Given the description of an element on the screen output the (x, y) to click on. 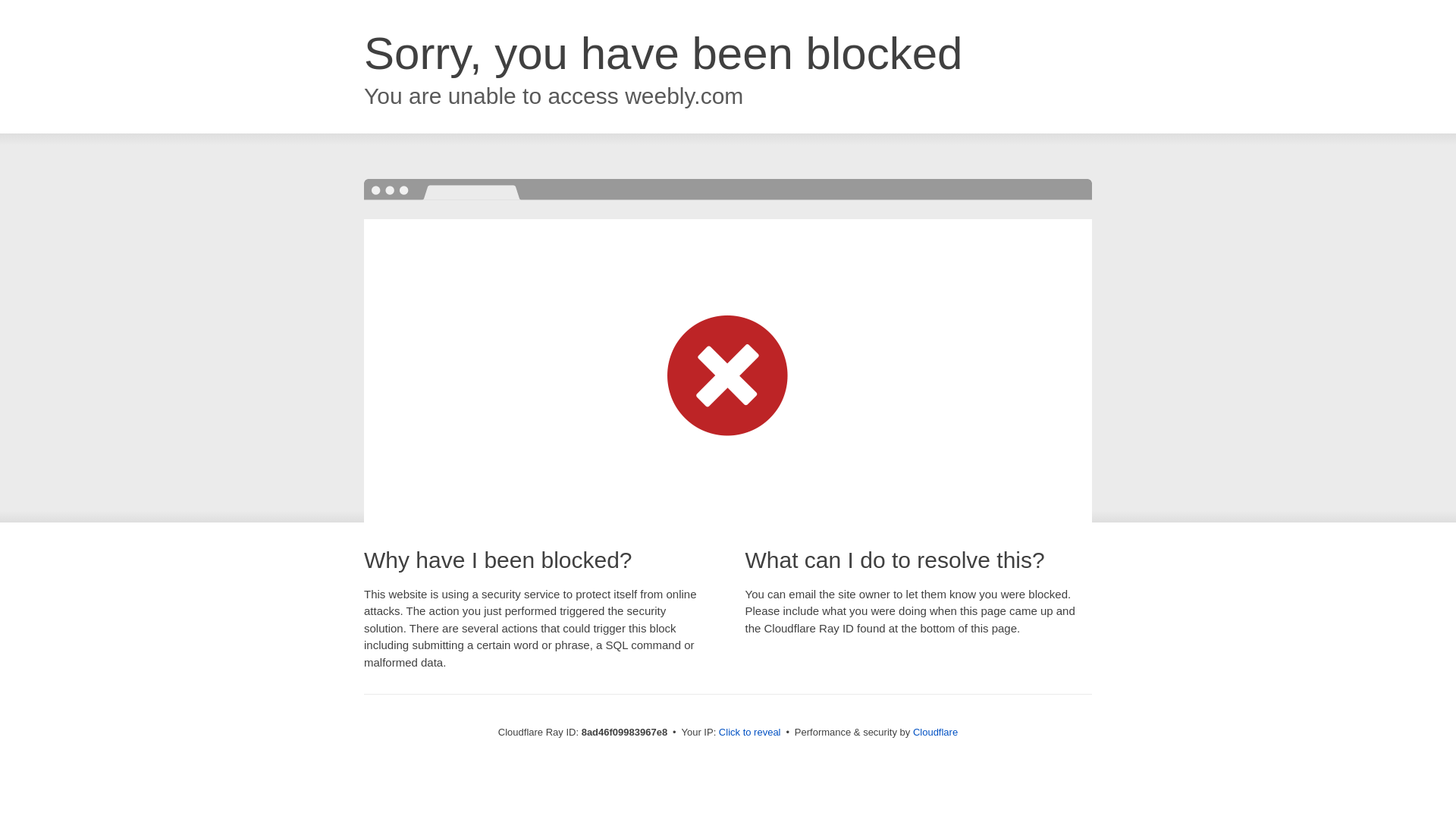
Click to reveal (749, 732)
Cloudflare (935, 731)
